Given the description of an element on the screen output the (x, y) to click on. 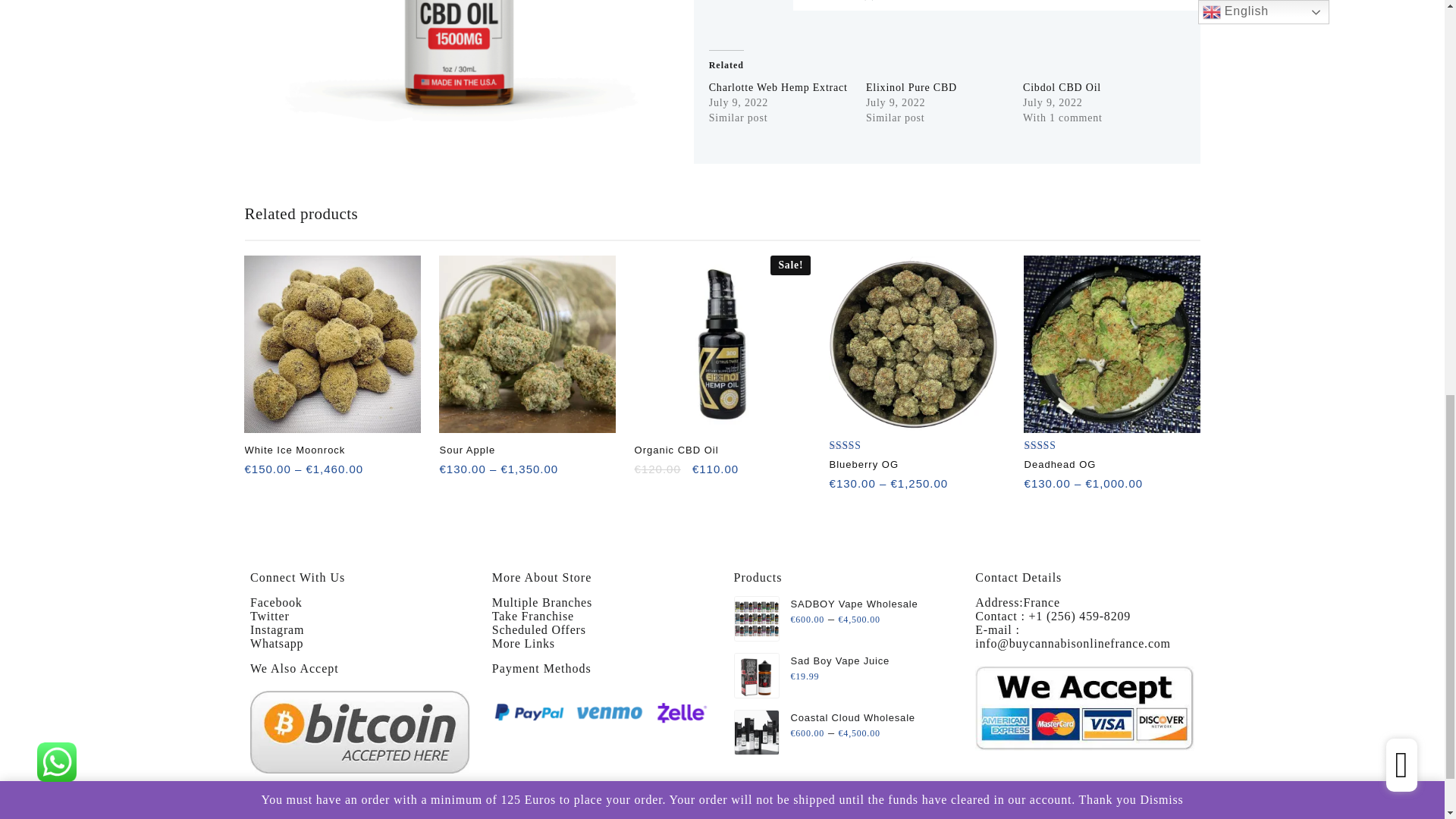
Charlotte Web Hemp Extract (778, 87)
Elixinol Pure CBD (911, 87)
Cibdol CBD Oil (1061, 87)
